Given the description of an element on the screen output the (x, y) to click on. 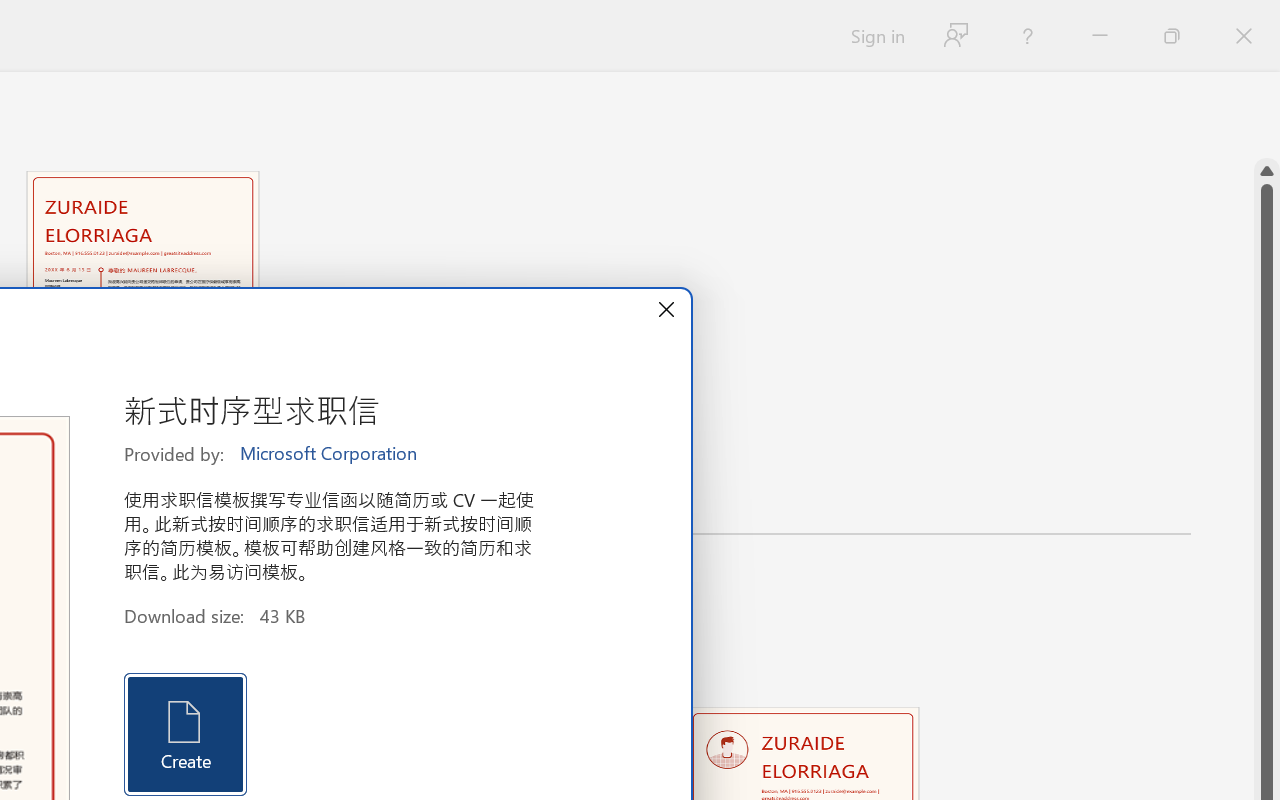
Create (185, 734)
Microsoft Corporation (330, 454)
Line up (1267, 171)
